Given the description of an element on the screen output the (x, y) to click on. 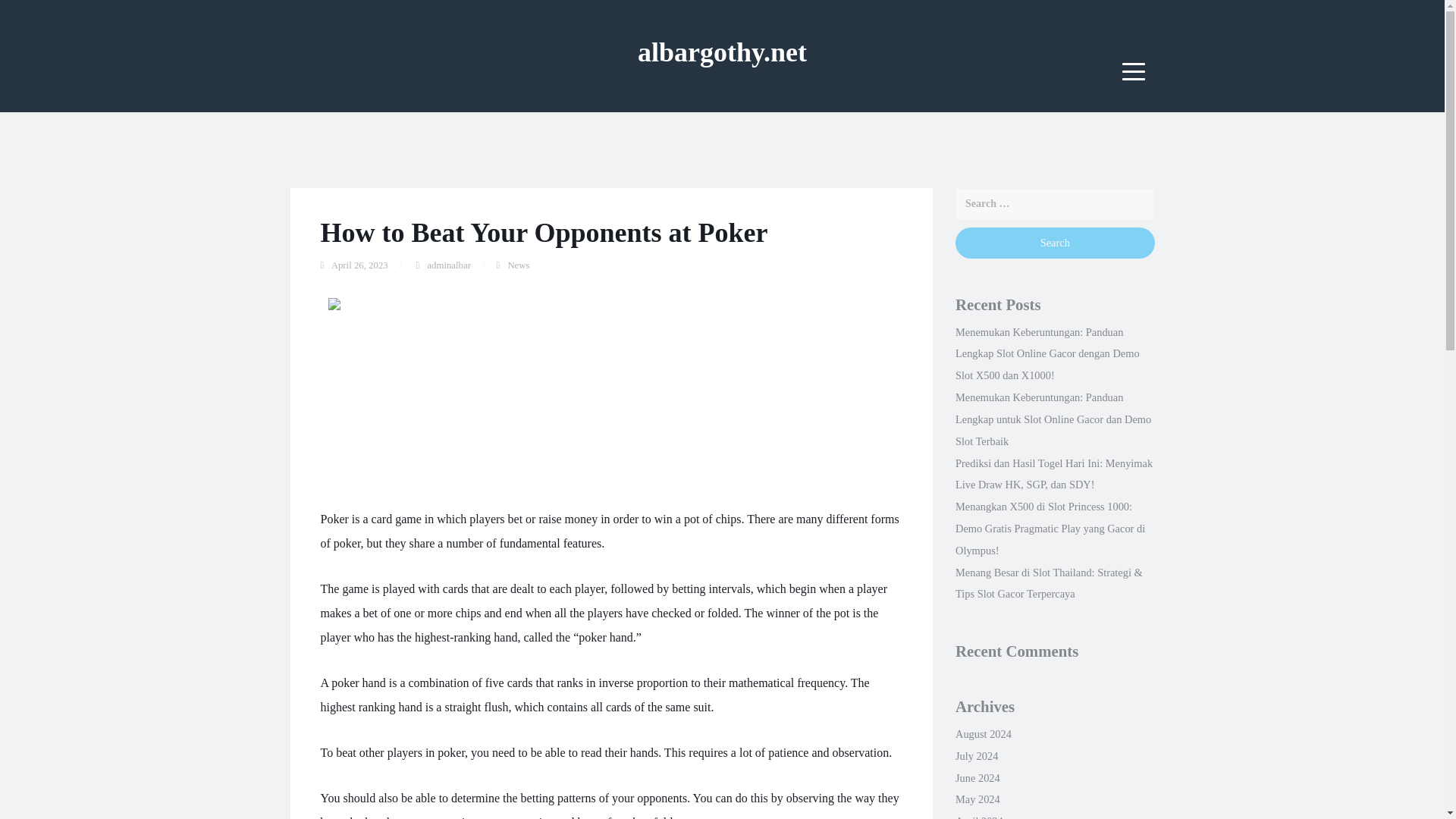
July 2024 (976, 756)
June 2024 (977, 777)
Search (1054, 242)
Search (1054, 242)
albargothy.net (721, 51)
Search (1054, 242)
August 2024 (983, 734)
